Given the description of an element on the screen output the (x, y) to click on. 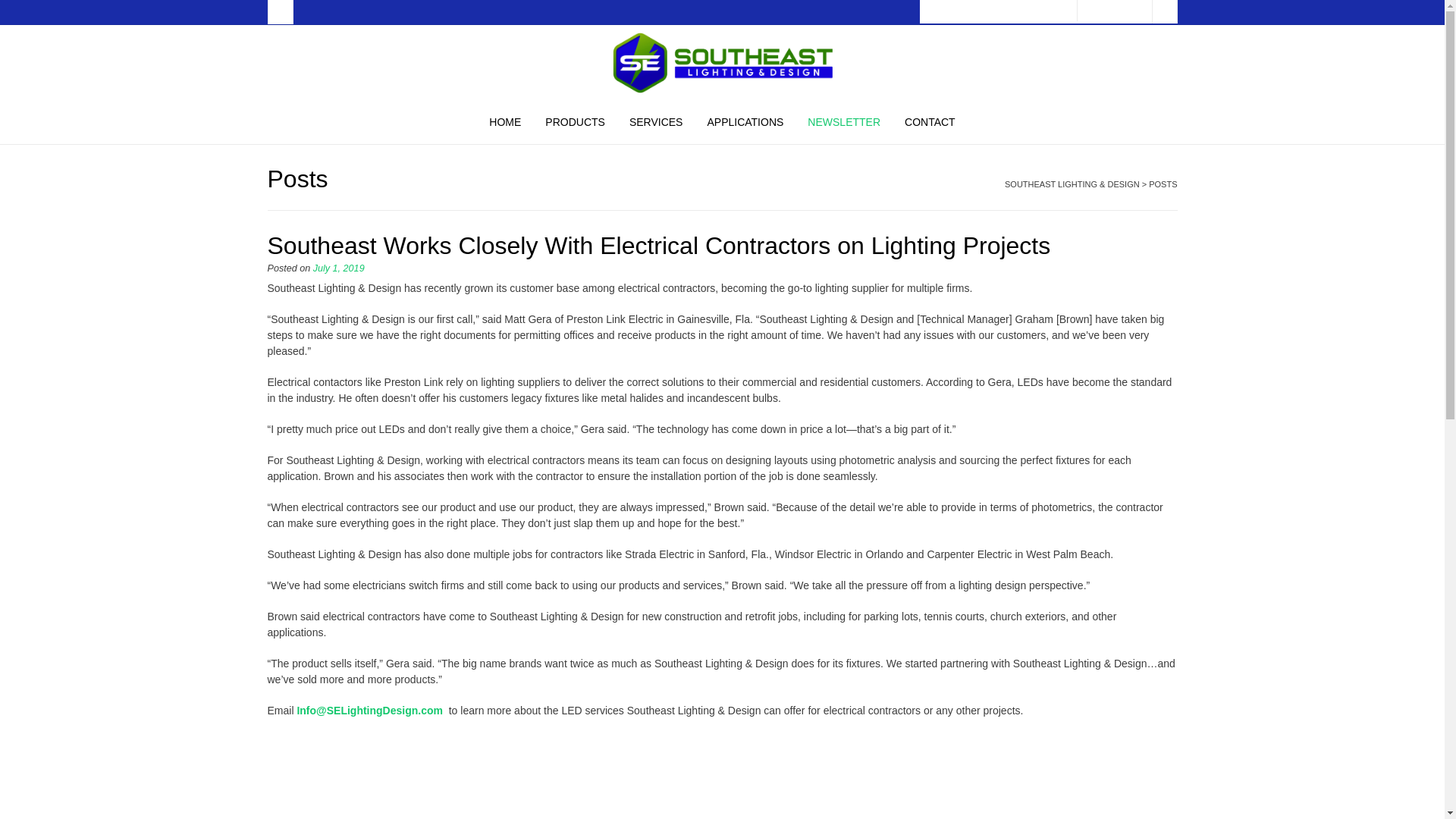
HOME (504, 124)
NEWSLETTER (843, 124)
SERVICES (656, 124)
CONTACT (930, 124)
PRODUCTS (574, 124)
APPLICATIONS (744, 124)
July 1, 2019 (339, 267)
POSTS (1162, 184)
Go to Posts. (1162, 184)
